Given the description of an element on the screen output the (x, y) to click on. 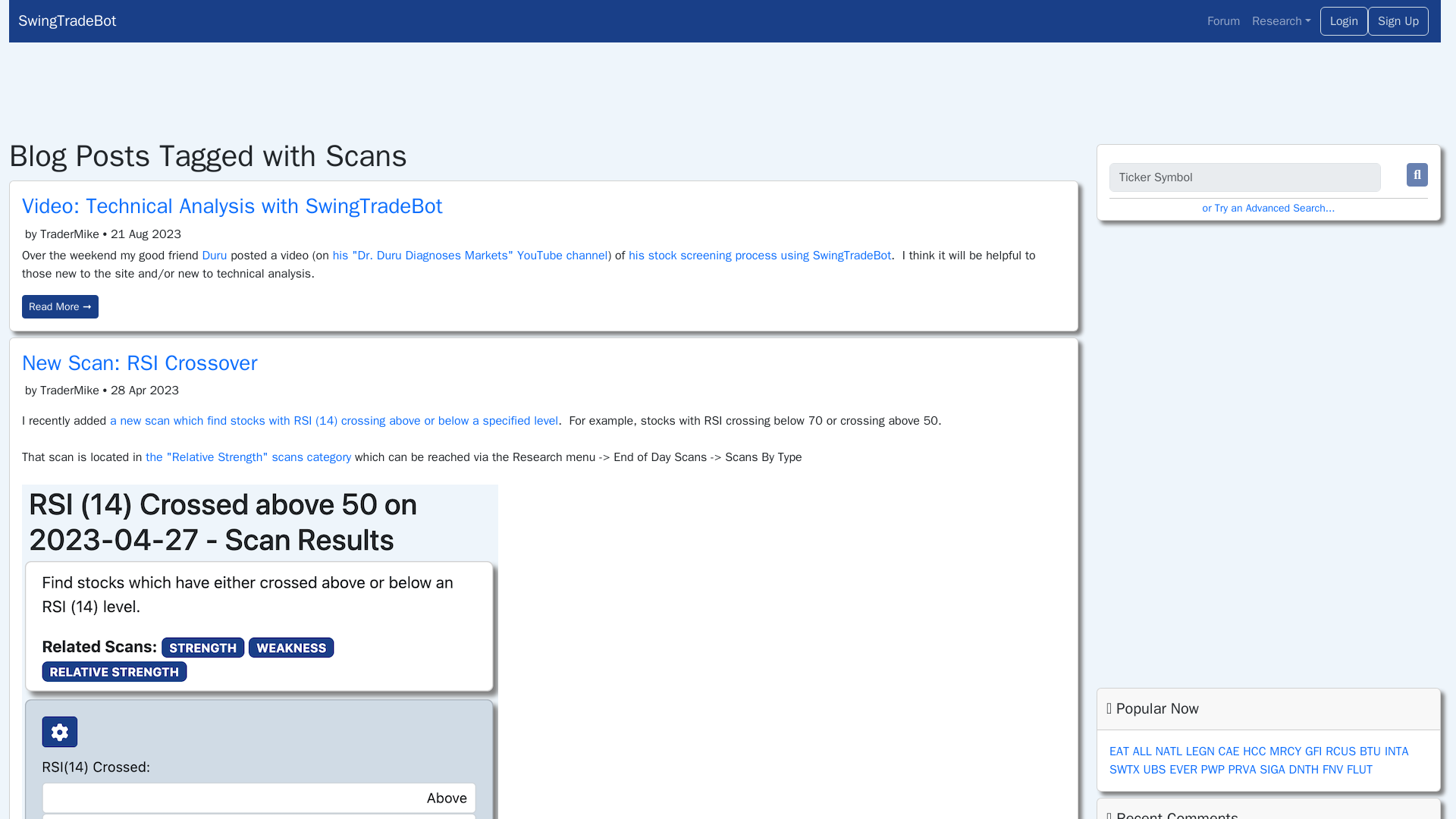
Duru (214, 255)
SwingTradeBot (334, 20)
Forum (1223, 20)
his stock screening process using SwingTradeBot (759, 255)
Research (1281, 20)
his "Dr. Duru Diagnoses Markets" YouTube channel (470, 255)
the "Relative Strength" scans category (247, 457)
Video: Technical Analysis with SwingTradeBot (231, 205)
Login (1344, 21)
Sign Up (1398, 21)
